Given the description of an element on the screen output the (x, y) to click on. 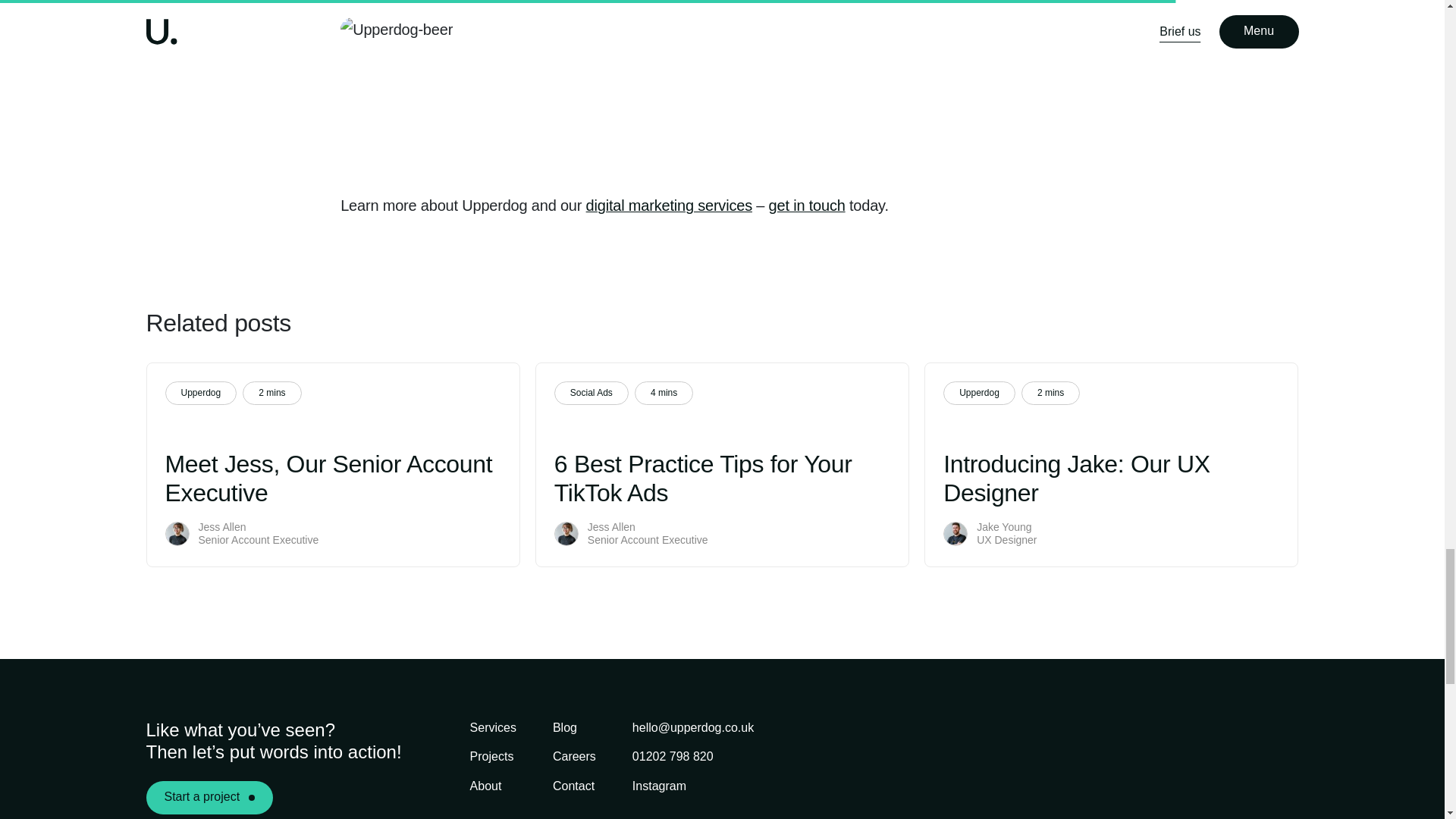
Projects (491, 756)
Contact (573, 786)
01202 798 820 (672, 756)
Introducing Jake: Our UX Designer (1111, 478)
Instagram (658, 786)
get in touch (806, 205)
Careers (574, 756)
About (486, 786)
Blog (564, 727)
6 Best Practice Tips for Your TikTok Ads (721, 478)
Services (493, 727)
Meet Jess, Our Senior Account Executive (332, 478)
Start a project (209, 797)
digital marketing services (669, 205)
